Given the description of an element on the screen output the (x, y) to click on. 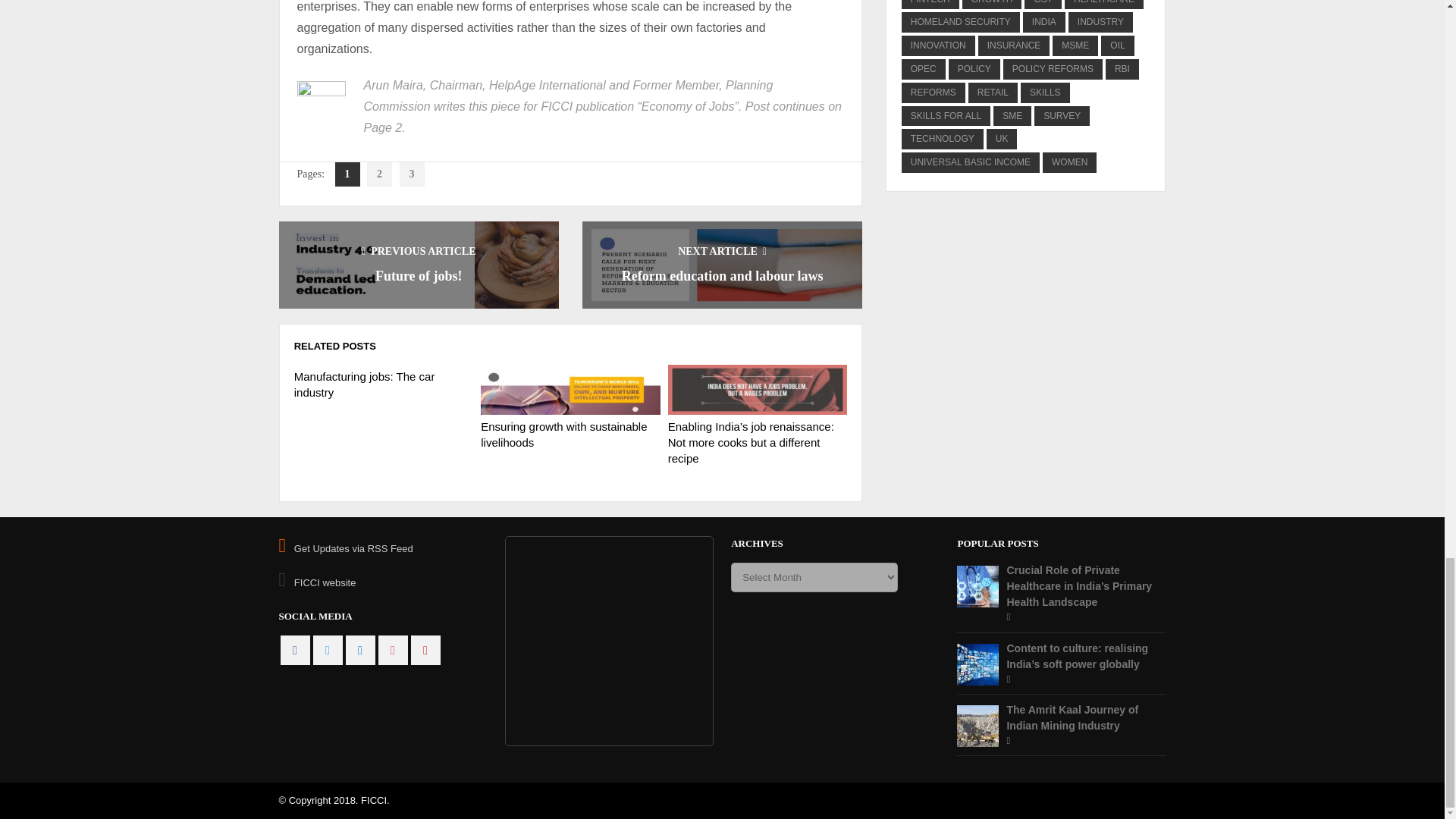
Reform education and labour laws (722, 275)
Ensuring growth with sustainable livelihoods (569, 389)
Future of jobs! (419, 275)
3 (411, 174)
2 (378, 174)
Manufacturing jobs: The car industry (364, 384)
Manufacturing jobs: The car industry (364, 384)
Ensuring growth with sustainable livelihoods (563, 434)
Ensuring growth with sustainable livelihoods (563, 434)
